Given the description of an element on the screen output the (x, y) to click on. 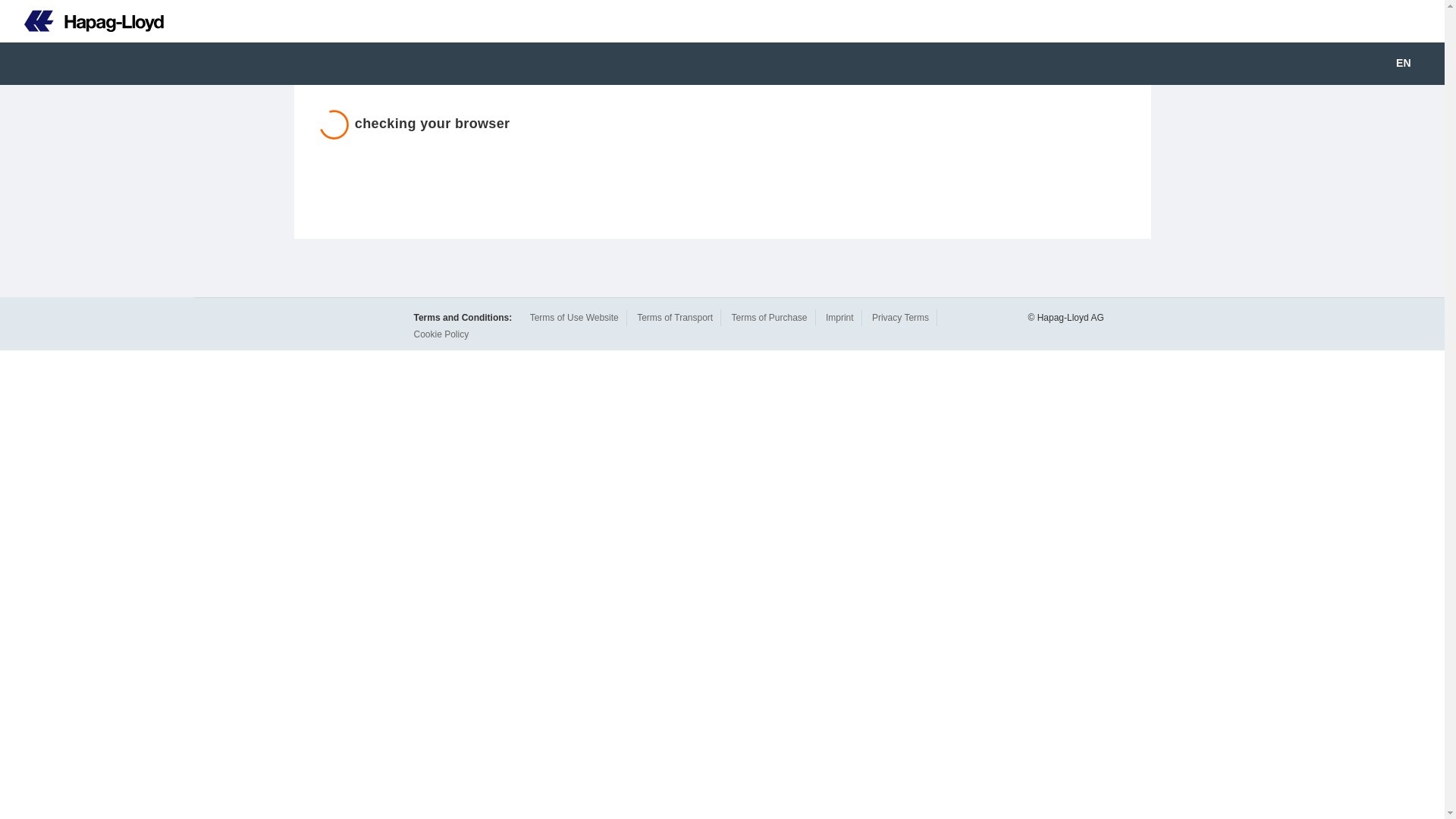
EN (1414, 63)
Privacy Terms (900, 317)
Cookie Policy (440, 334)
Imprint (839, 317)
Terms of Transport (675, 317)
Terms of Purchase (768, 317)
Hapag-Lloyd Logo (93, 21)
Terms of Use Website (573, 317)
Hapag-Lloyd Logo (81, 21)
